Given the description of an element on the screen output the (x, y) to click on. 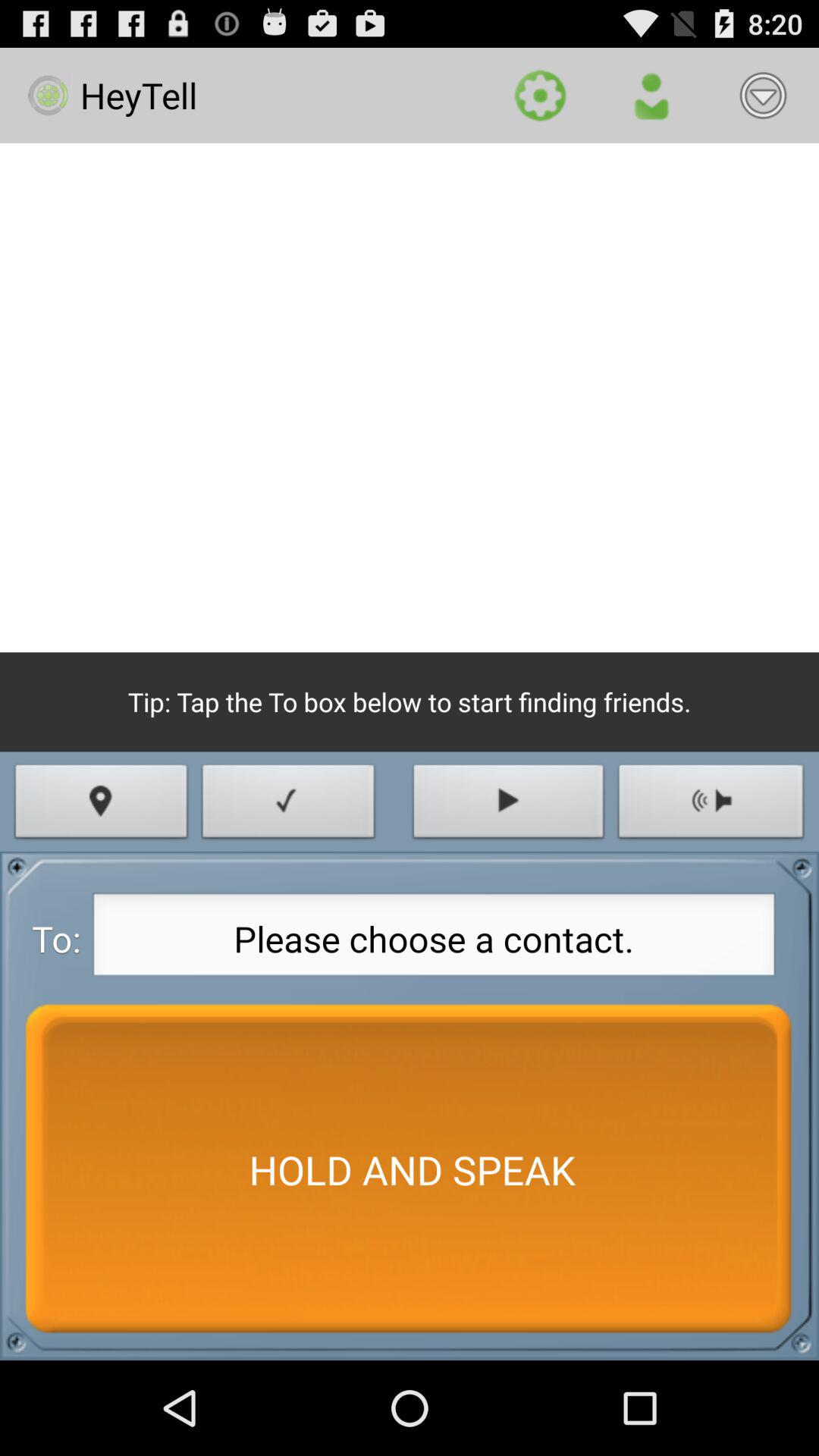
jump until the hold and speak item (409, 1169)
